Given the description of an element on the screen output the (x, y) to click on. 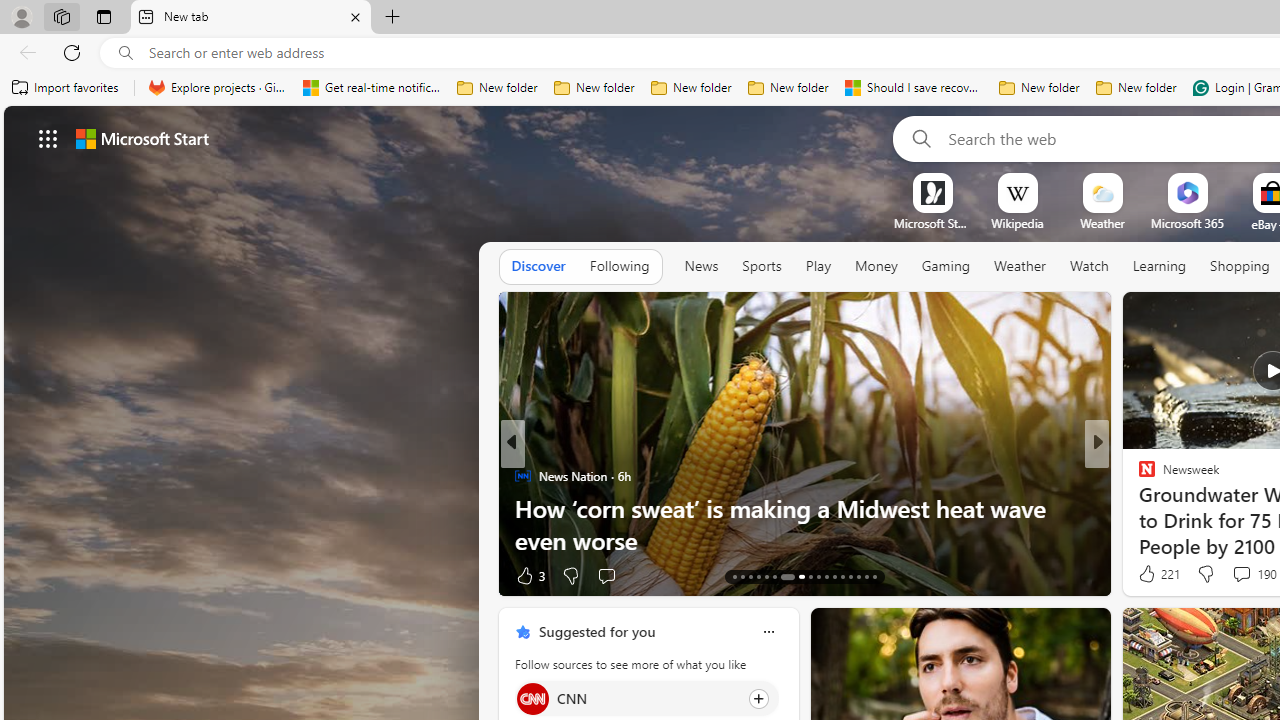
AutomationID: tab-14 (742, 576)
Microsoft 365 (1186, 223)
View comments 19 Comment (1237, 574)
Personal Profile (21, 16)
View comments 6 Comment (1234, 574)
New tab (250, 17)
26 Like (1149, 574)
3 Like (528, 574)
PCMag (1138, 475)
News (701, 265)
Microsoft start (142, 138)
Tab actions menu (104, 16)
Ad (1142, 575)
